Given the description of an element on the screen output the (x, y) to click on. 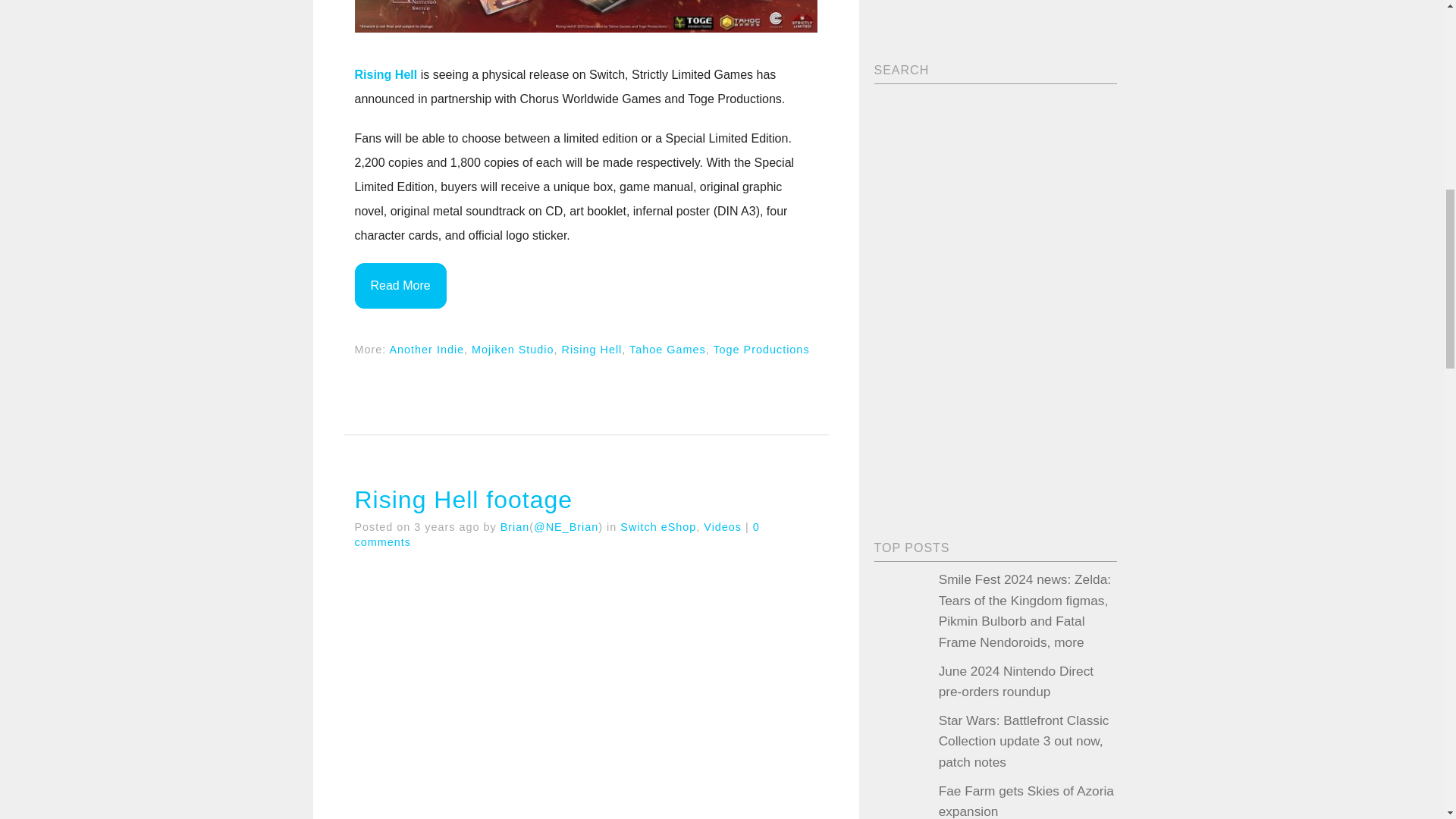
Rising Hell (590, 349)
Read More (400, 285)
June 2024 Nintendo Direct pre-orders roundup (1016, 681)
Another Indie (427, 349)
Mojiken Studio (512, 349)
Rising Hell (386, 74)
Read More (400, 285)
Posts by Brian (514, 526)
Fae Farm gets Skies of Azoria expansion (1026, 800)
